Given the description of an element on the screen output the (x, y) to click on. 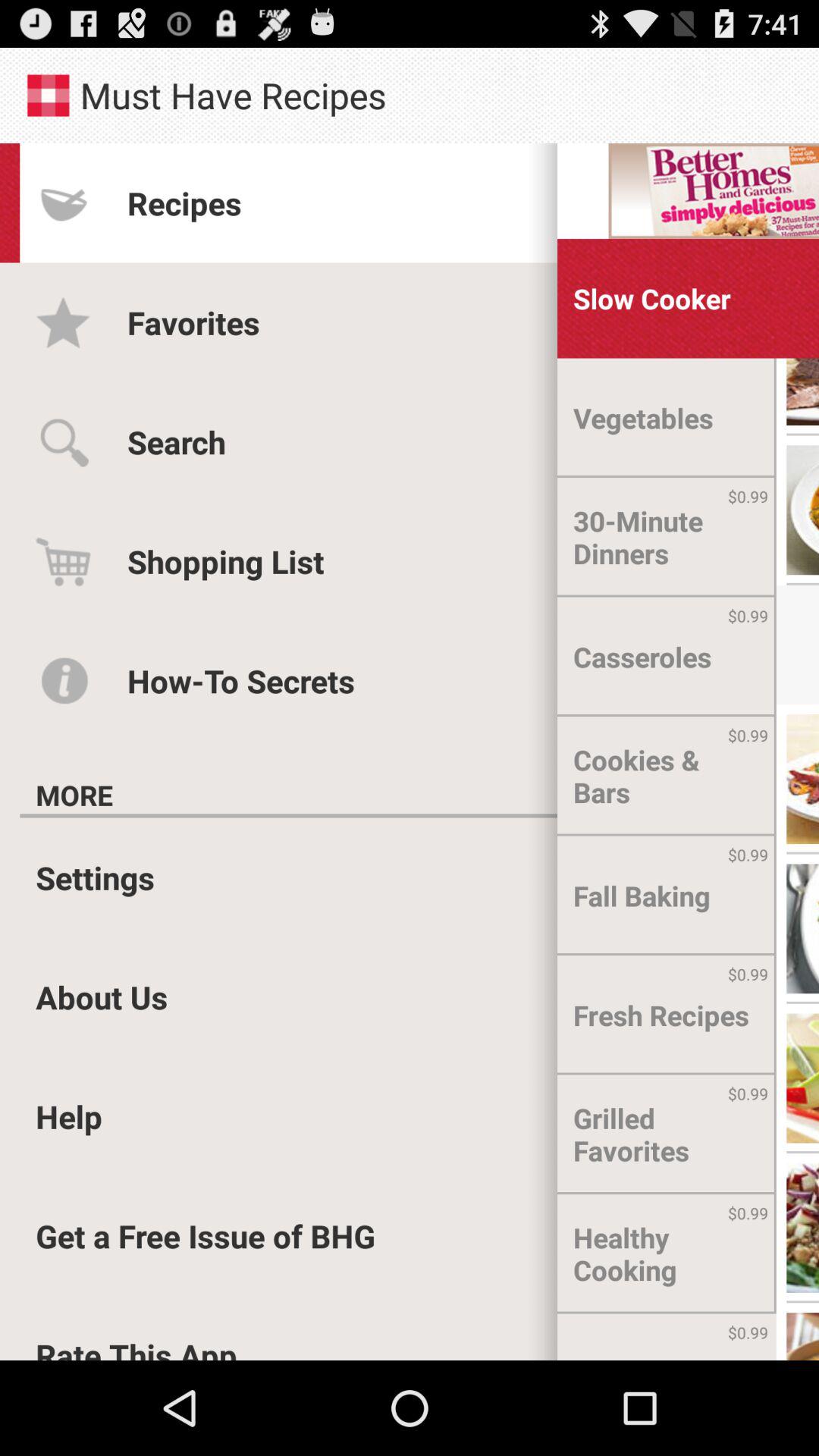
open vegetables item (643, 417)
